Given the description of an element on the screen output the (x, y) to click on. 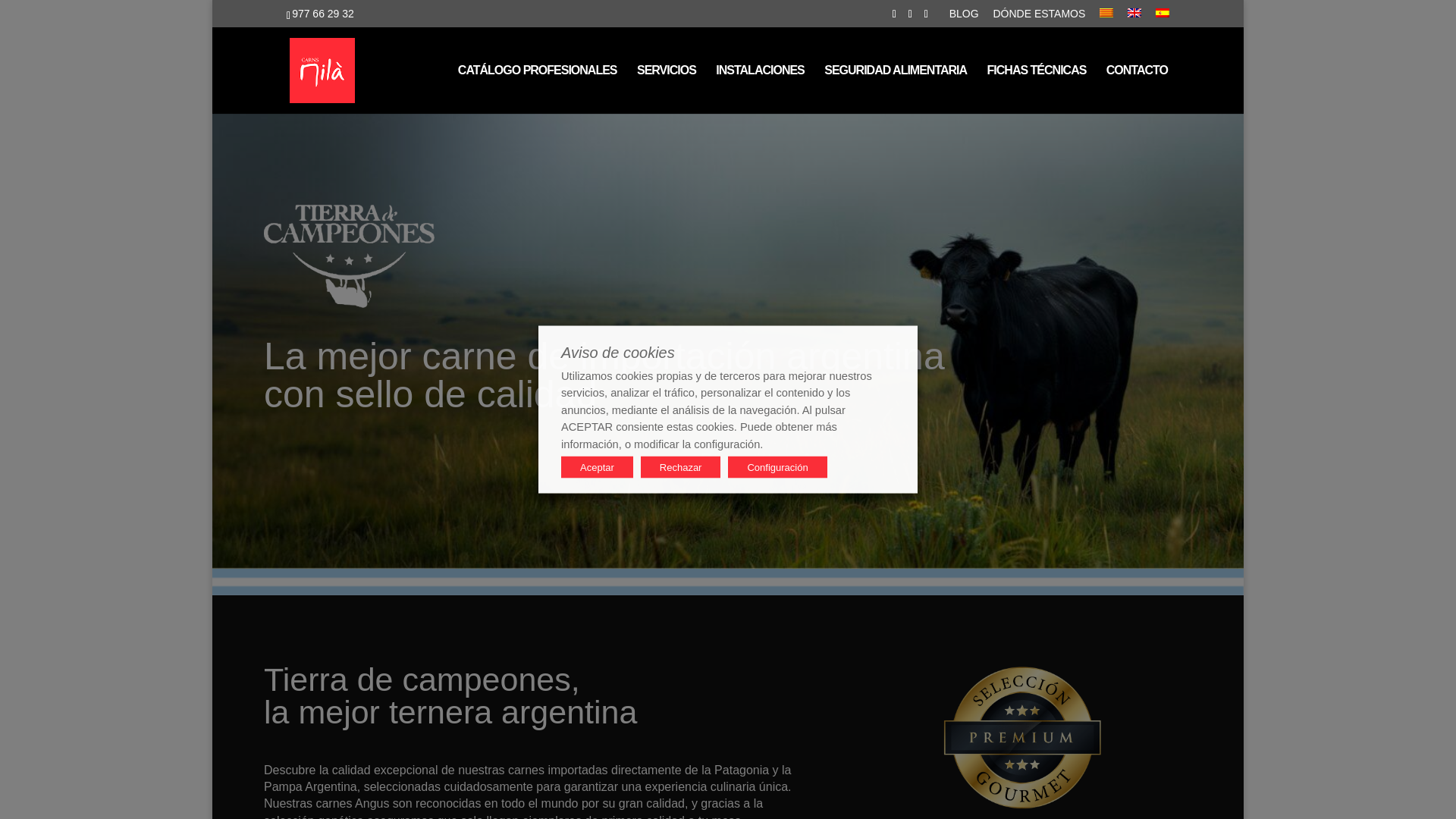
SERVICIOS (666, 89)
BLOG (963, 16)
sello-premium (1021, 737)
CONTACTO (1136, 89)
tierra-campeones-logo (348, 255)
977 66 29 32 (322, 13)
INSTALACIONES (759, 89)
SEGURIDAD ALIMENTARIA (895, 89)
Bandera ArgentinaRecurso 1 (727, 581)
